Given the description of an element on the screen output the (x, y) to click on. 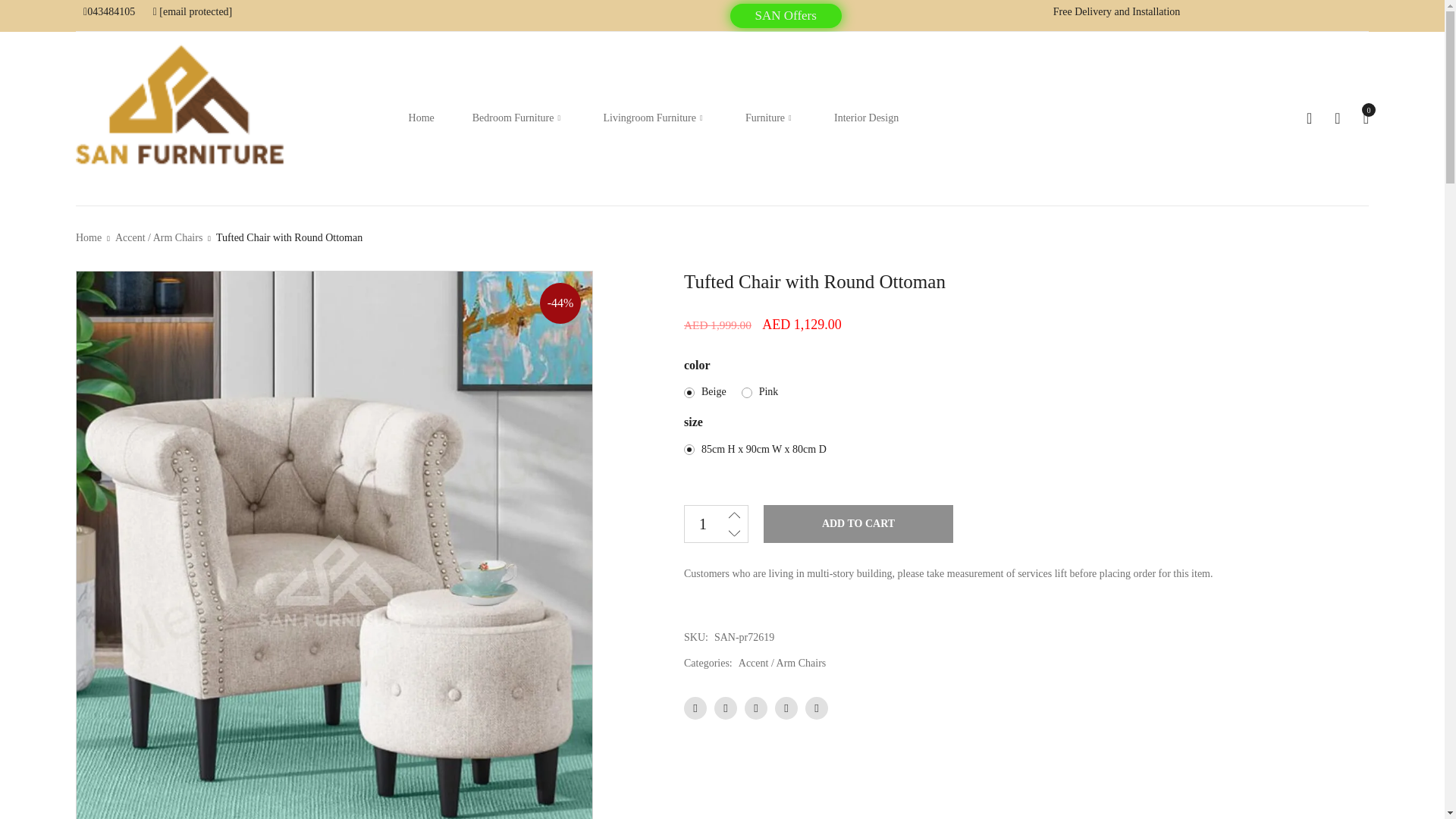
San Furniture (181, 115)
- (734, 533)
1 (702, 524)
View your shopping cart (1365, 118)
Sign in (1337, 118)
